Given the description of an element on the screen output the (x, y) to click on. 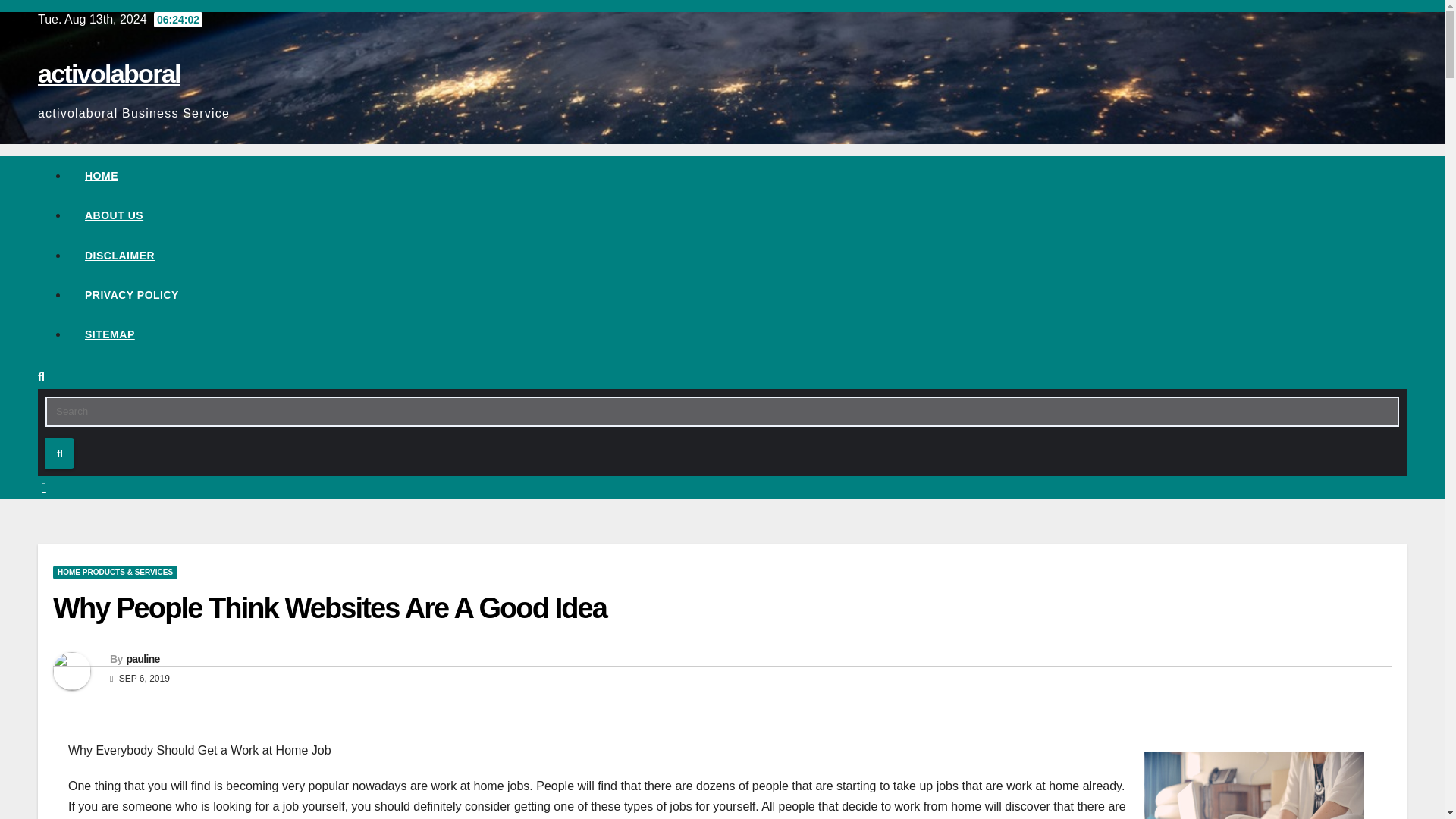
Why People Think Websites Are A Good Idea (329, 608)
SITEMAP (737, 333)
activolaboral (108, 72)
DISCLAIMER (737, 255)
HOME (737, 175)
Permalink to: Why People Think Websites Are A Good Idea (329, 608)
ABOUT US (737, 215)
PRIVACY POLICY (737, 294)
Home (737, 175)
pauline (141, 658)
